Given the description of an element on the screen output the (x, y) to click on. 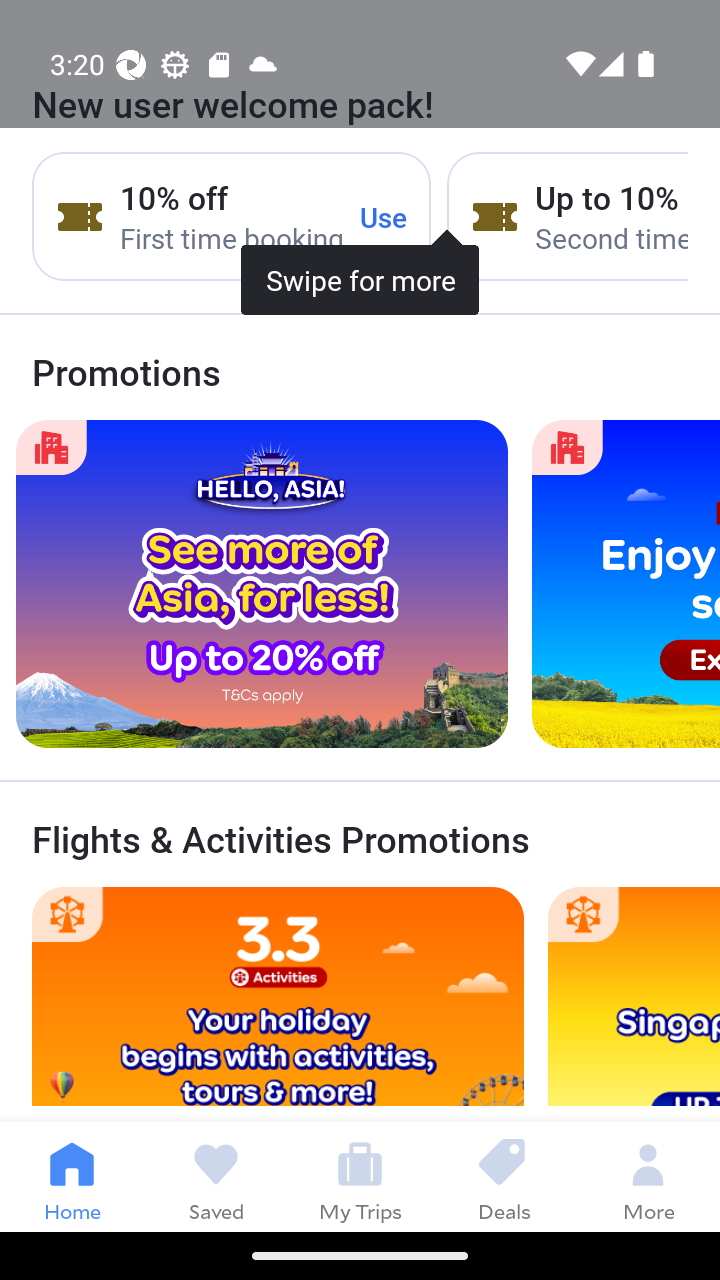
Swipe for more (360, 201)
Home (72, 1176)
Saved (216, 1176)
My Trips (360, 1176)
Deals (504, 1176)
More (648, 1176)
